Given the description of an element on the screen output the (x, y) to click on. 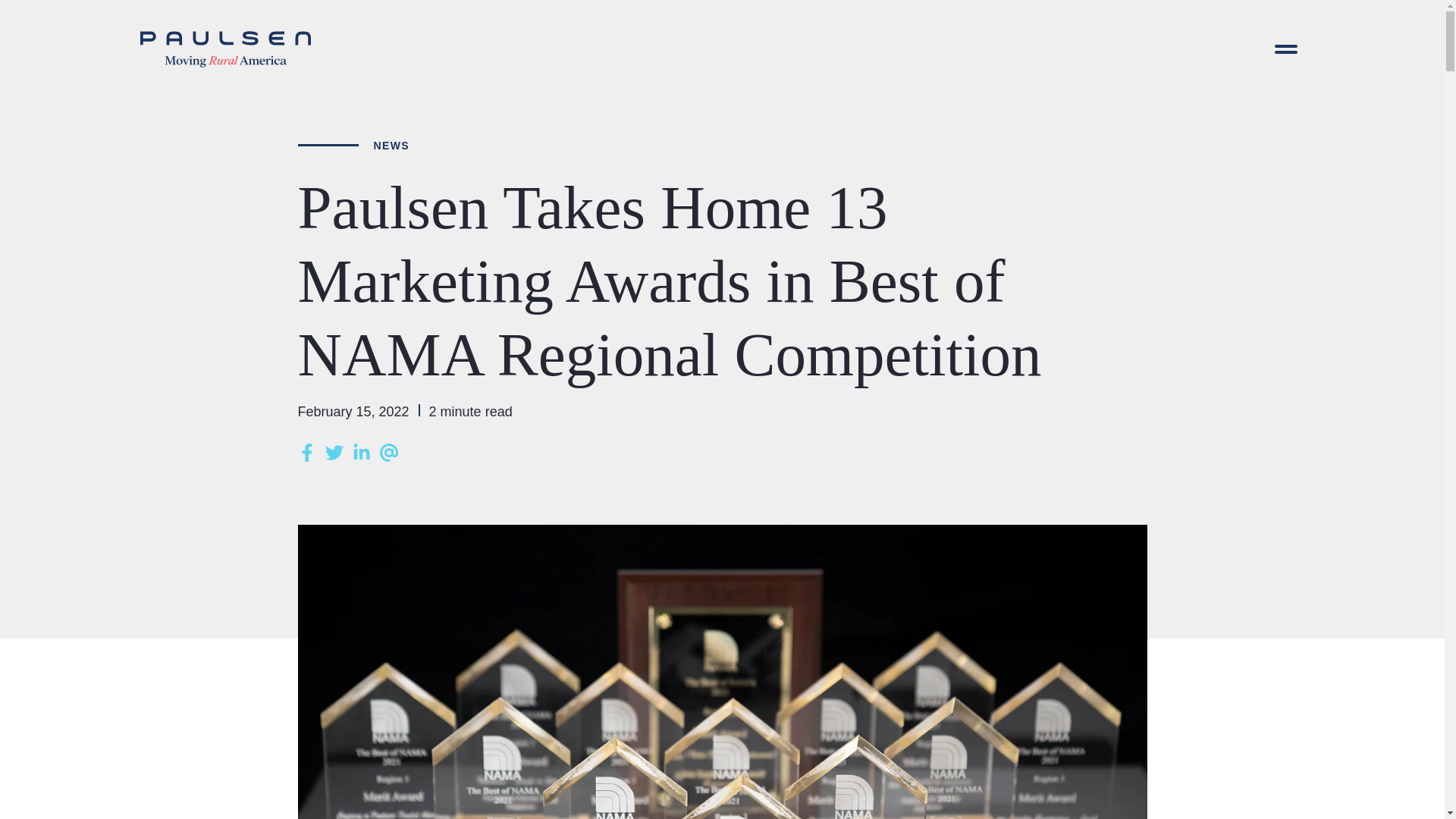
Share on Twitter (333, 452)
Share on Facebook (306, 452)
Follow Paulsen on LinkedIn (360, 452)
Email to a friend (387, 452)
